Given the description of an element on the screen output the (x, y) to click on. 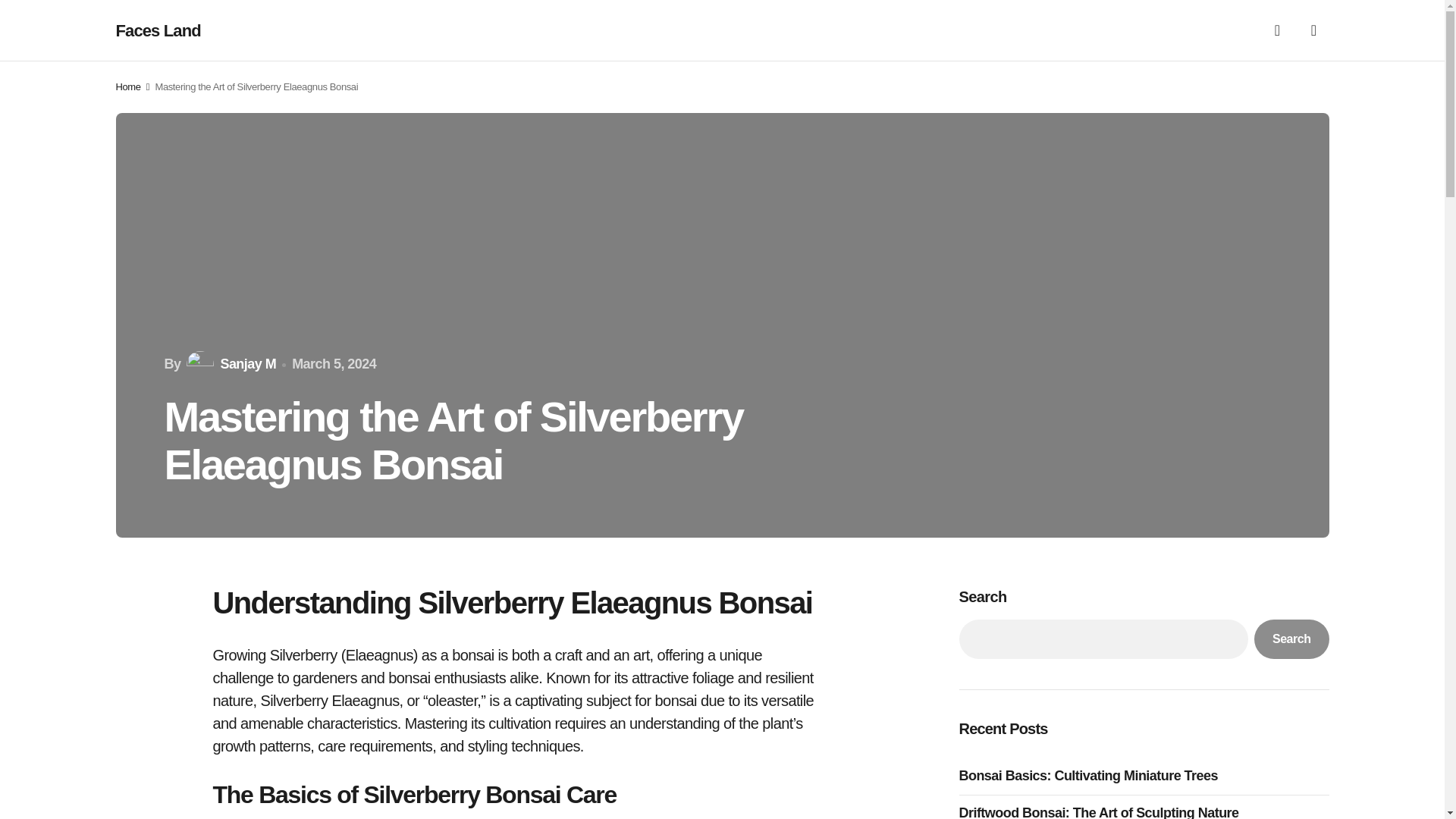
Faces Land (157, 30)
Driftwood Bonsai: The Art of Sculpting Nature (1102, 811)
Home (127, 86)
Sanjay M (229, 364)
Search (1291, 638)
Bonsai Basics: Cultivating Miniature Trees (1091, 775)
